Given the description of an element on the screen output the (x, y) to click on. 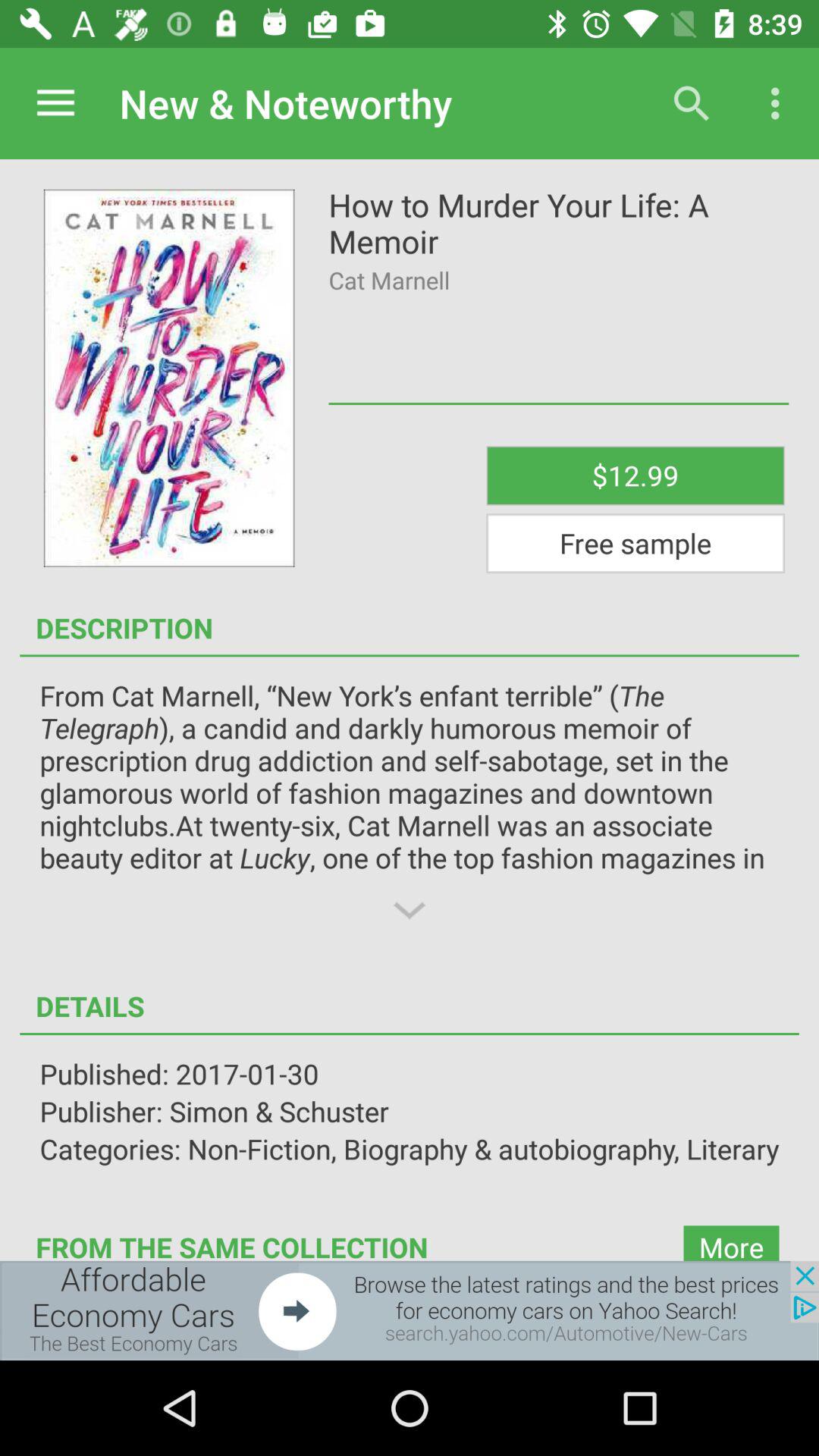
add banner (409, 1310)
